Given the description of an element on the screen output the (x, y) to click on. 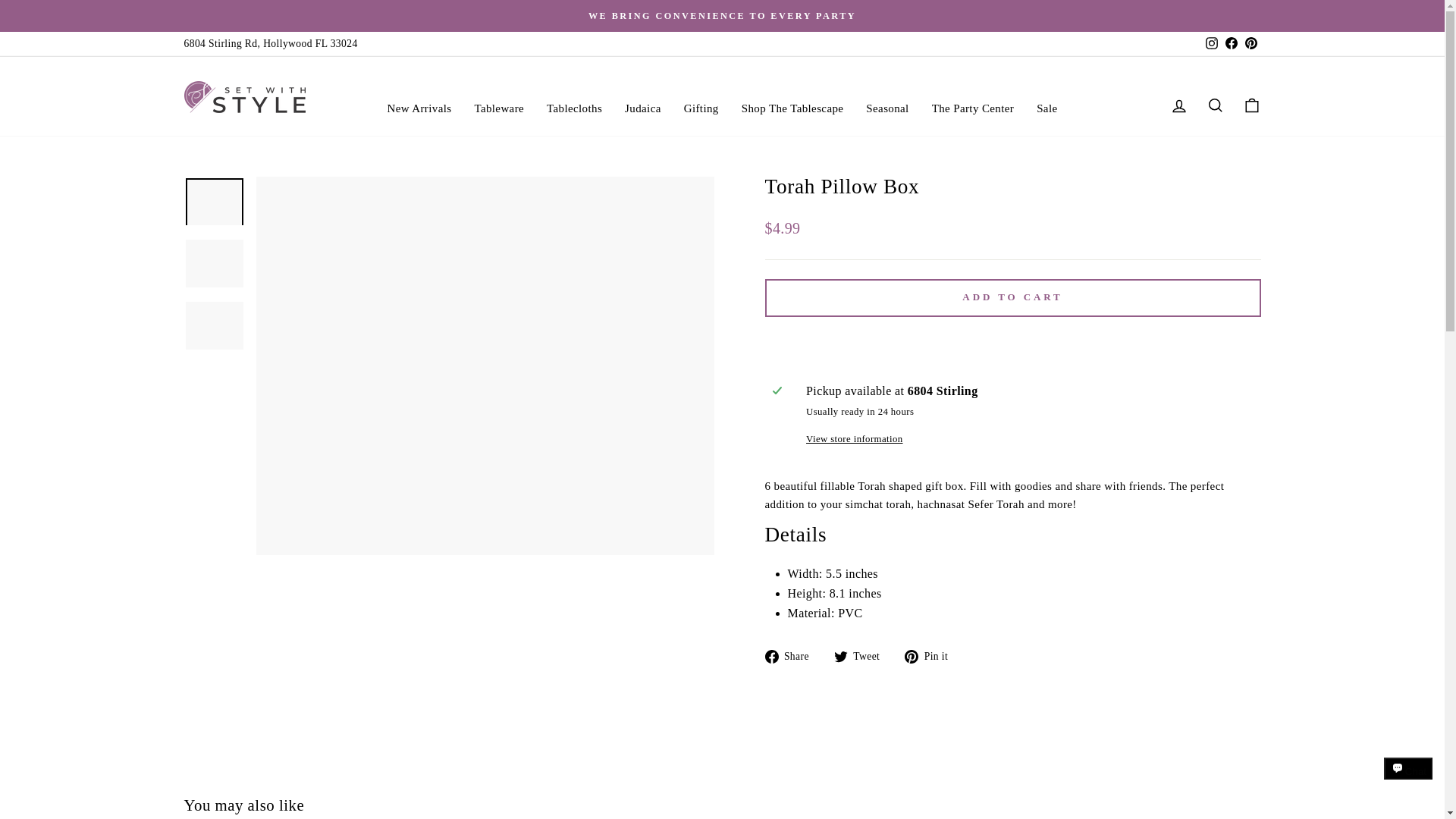
Tweet on Twitter (862, 655)
Pin on Pinterest (931, 655)
Share on Facebook (791, 655)
Shopify online store chat (1408, 781)
